Given the description of an element on the screen output the (x, y) to click on. 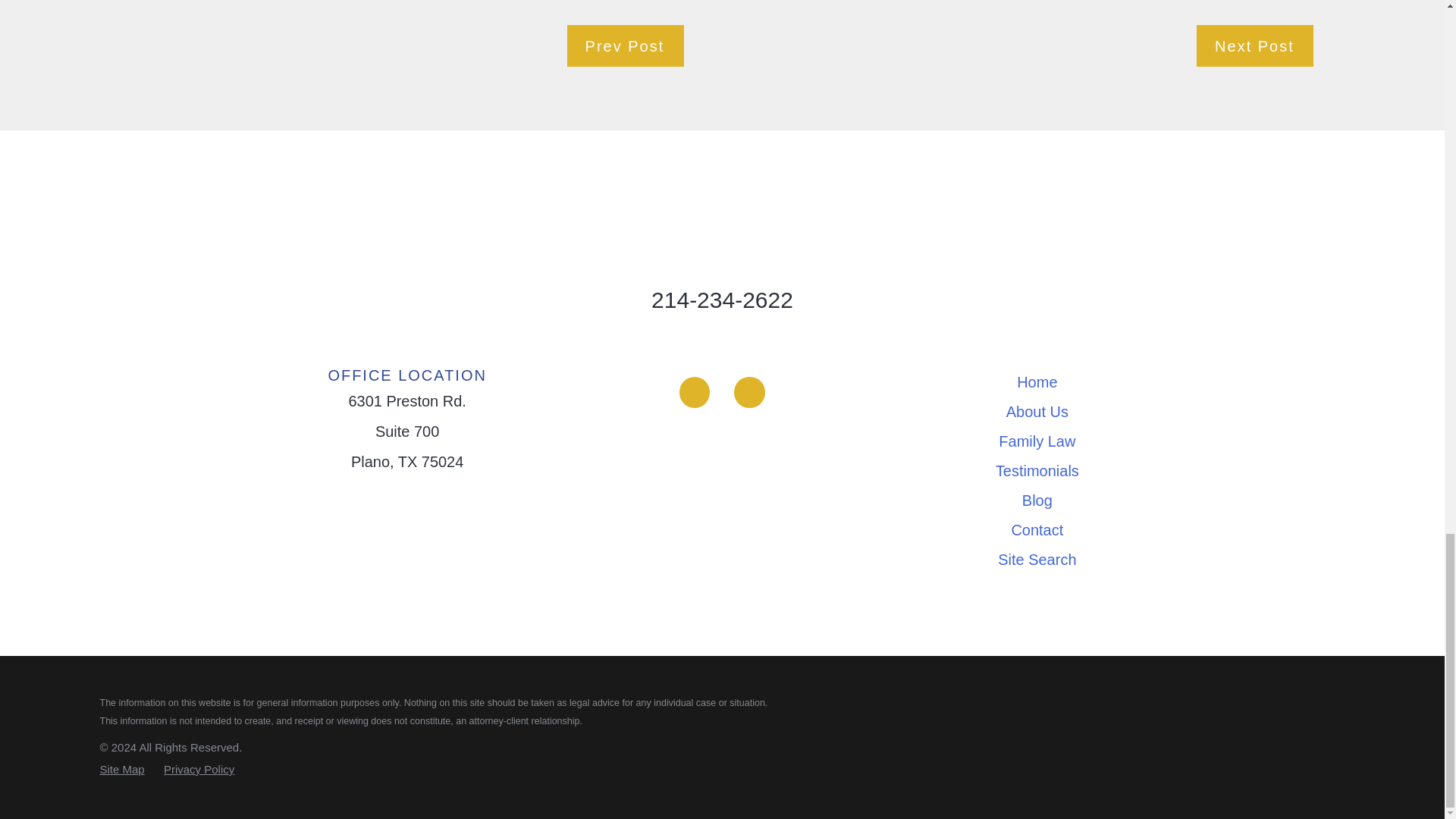
Instagram (748, 391)
Facebook (694, 391)
